Given the description of an element on the screen output the (x, y) to click on. 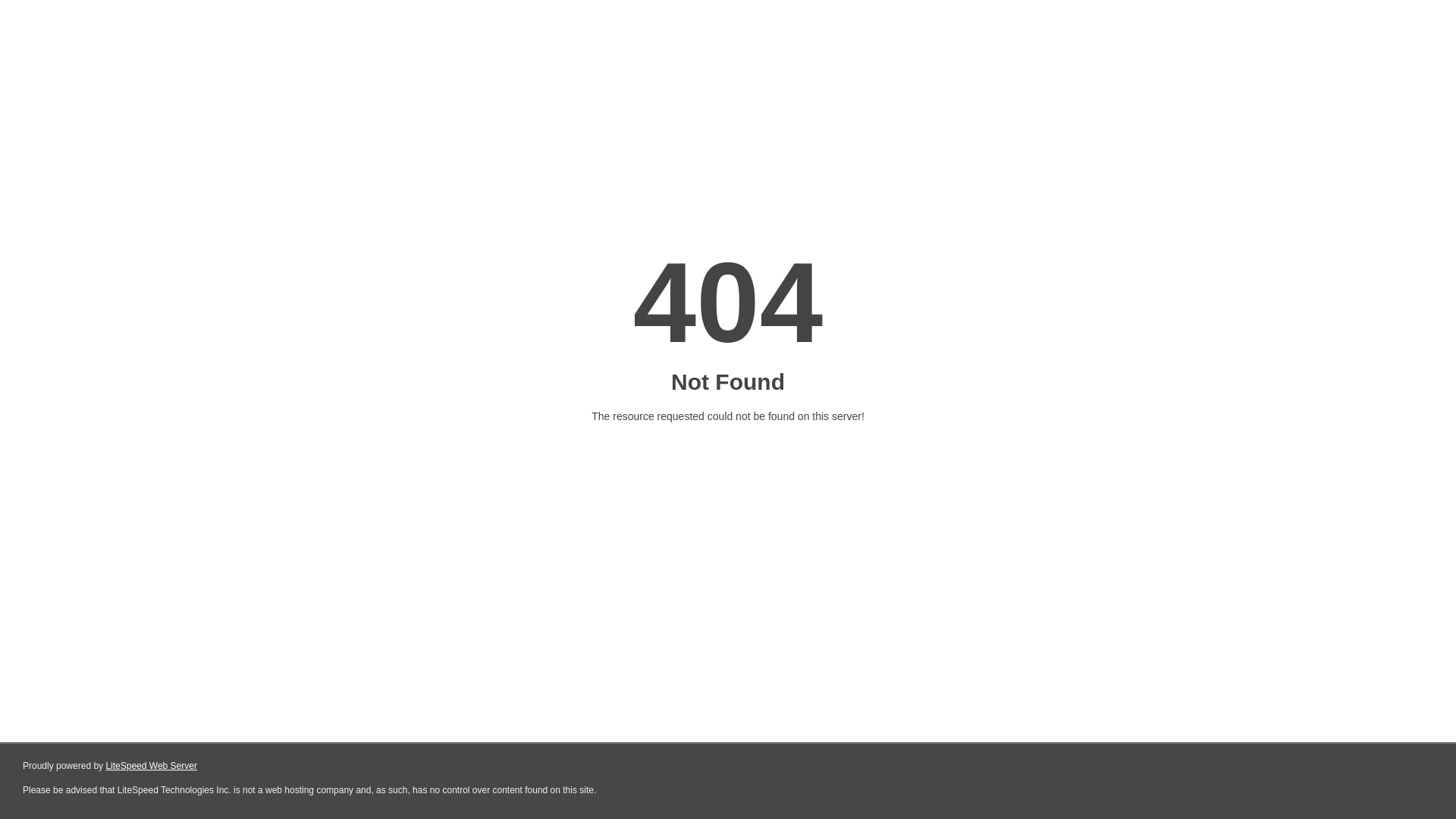
LiteSpeed Web Server Element type: text (151, 765)
